Given the description of an element on the screen output the (x, y) to click on. 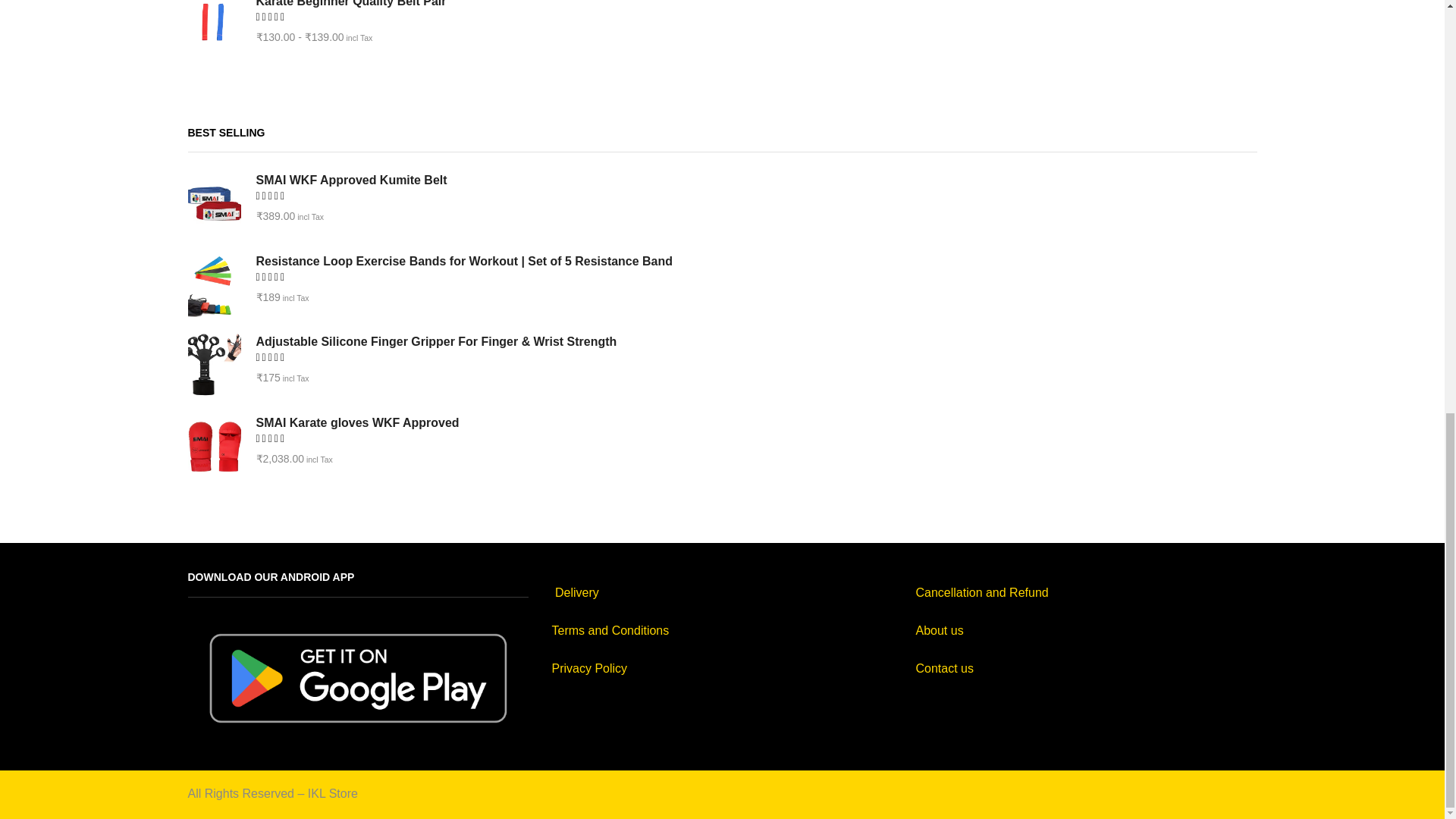
Karate Beginner Quality Belt Pair (214, 28)
SMAI WKF Approved Kumite Belt (747, 180)
SMAI WKF Approved Kumite Belt (214, 203)
